Given the description of an element on the screen output the (x, y) to click on. 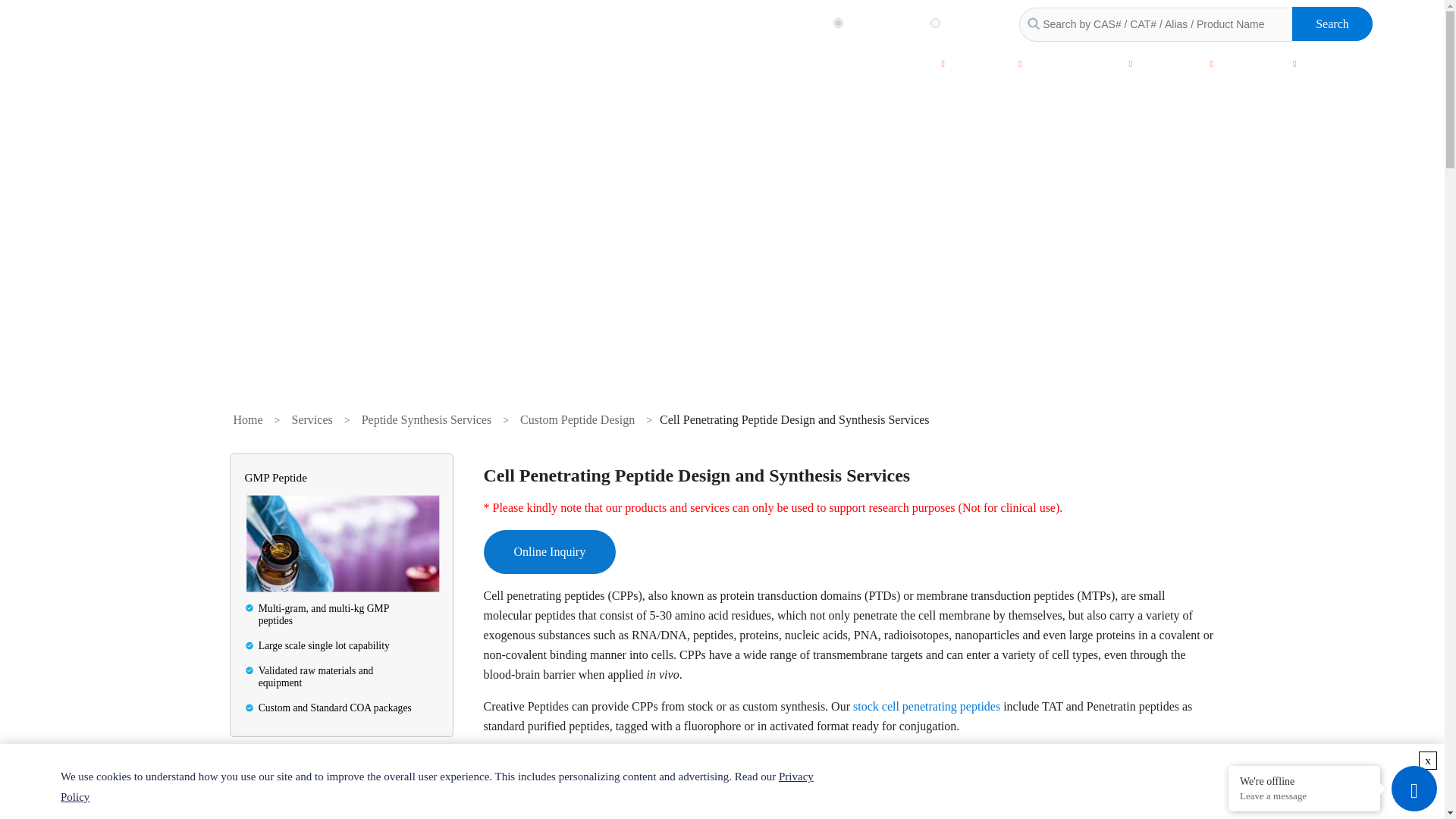
Search (1332, 23)
Leave a message (1304, 796)
0 (837, 22)
2 (935, 22)
Online Inquiry (549, 551)
We're offline (1304, 780)
COVID-19 (831, 62)
Home (759, 62)
Services (907, 62)
